Given the description of an element on the screen output the (x, y) to click on. 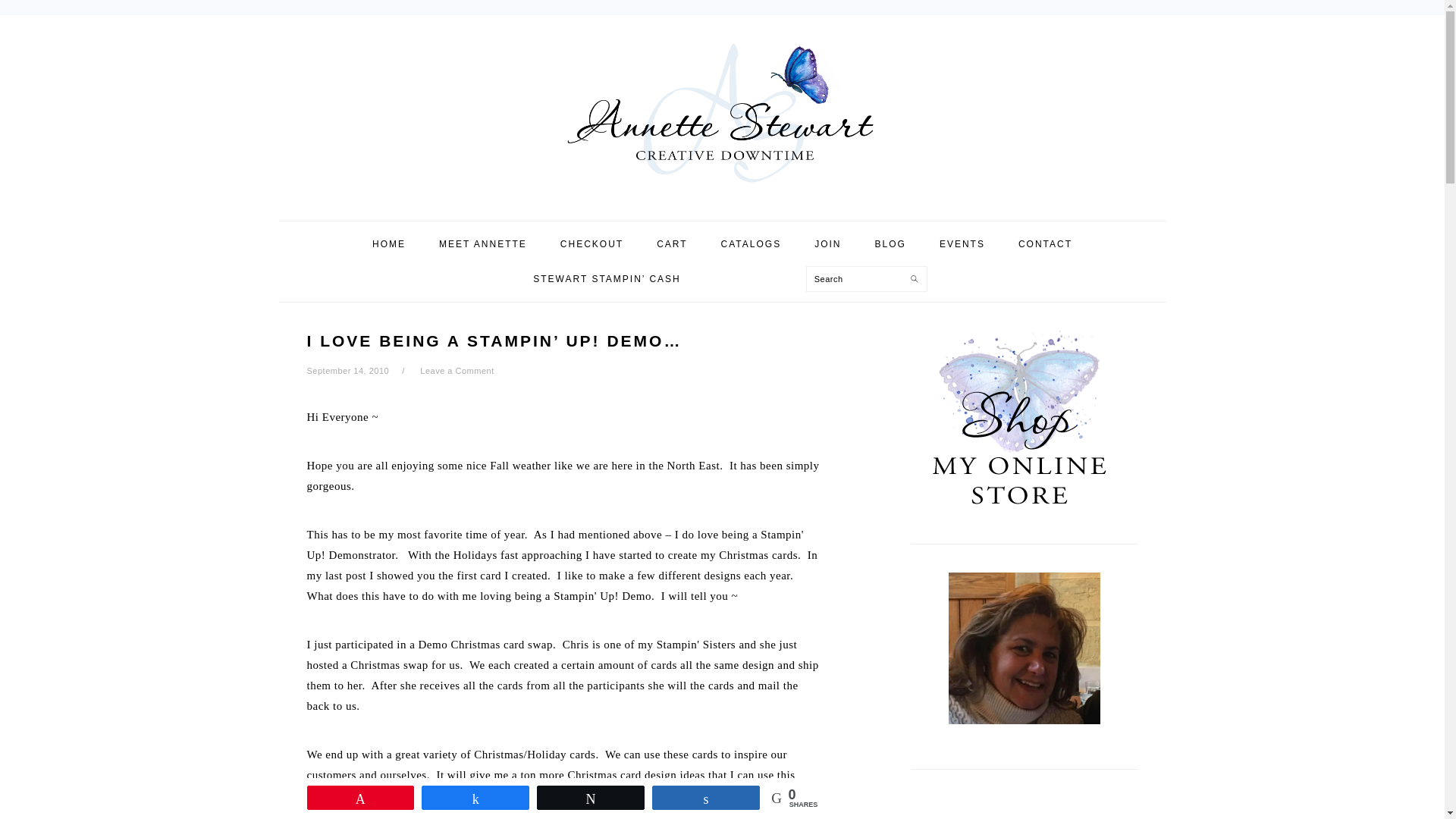
CATALOGS (750, 243)
Annette Stewart - Stampin' Up! Demonstrator (721, 183)
CART (671, 243)
HOME (389, 243)
Annette Stewart - Stampin' Up! Demonstrator (721, 116)
JOIN (827, 243)
MEET ANNETTE (483, 243)
CHECKOUT (591, 243)
